Given the description of an element on the screen output the (x, y) to click on. 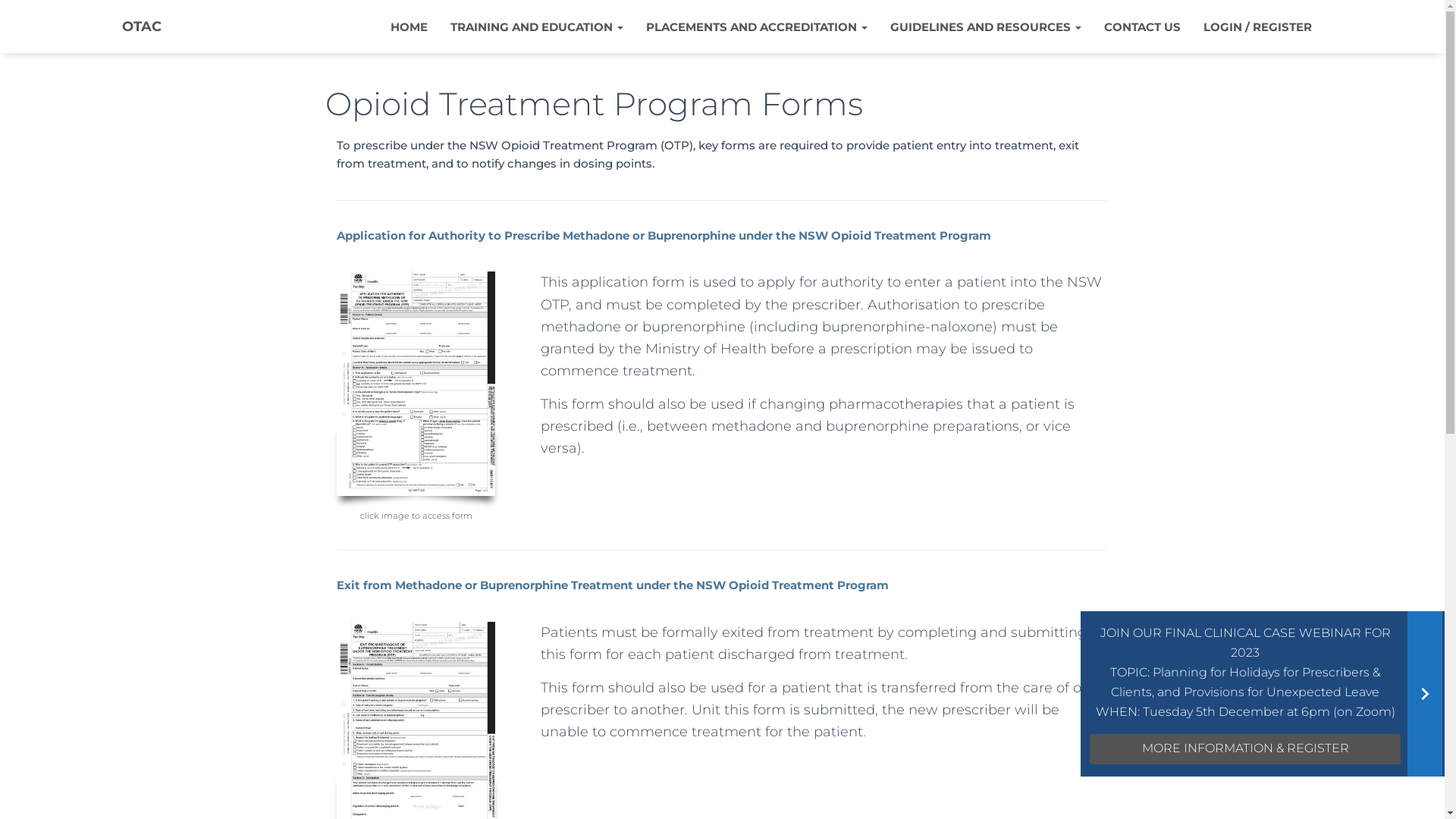
MORE INFORMATION & REGISTER Element type: text (1244, 749)
Application for Authority OTP Element type: hover (415, 383)
OTAC Element type: text (141, 26)
CONTACT US Element type: text (1141, 25)
TRAINING AND EDUCATION Element type: text (535, 25)
LOGIN / REGISTER Element type: text (1257, 25)
PLACEMENTS AND ACCREDITATION Element type: text (755, 25)
GUIDELINES AND RESOURCES Element type: text (985, 25)
HOME Element type: text (409, 25)
